Given the description of an element on the screen output the (x, y) to click on. 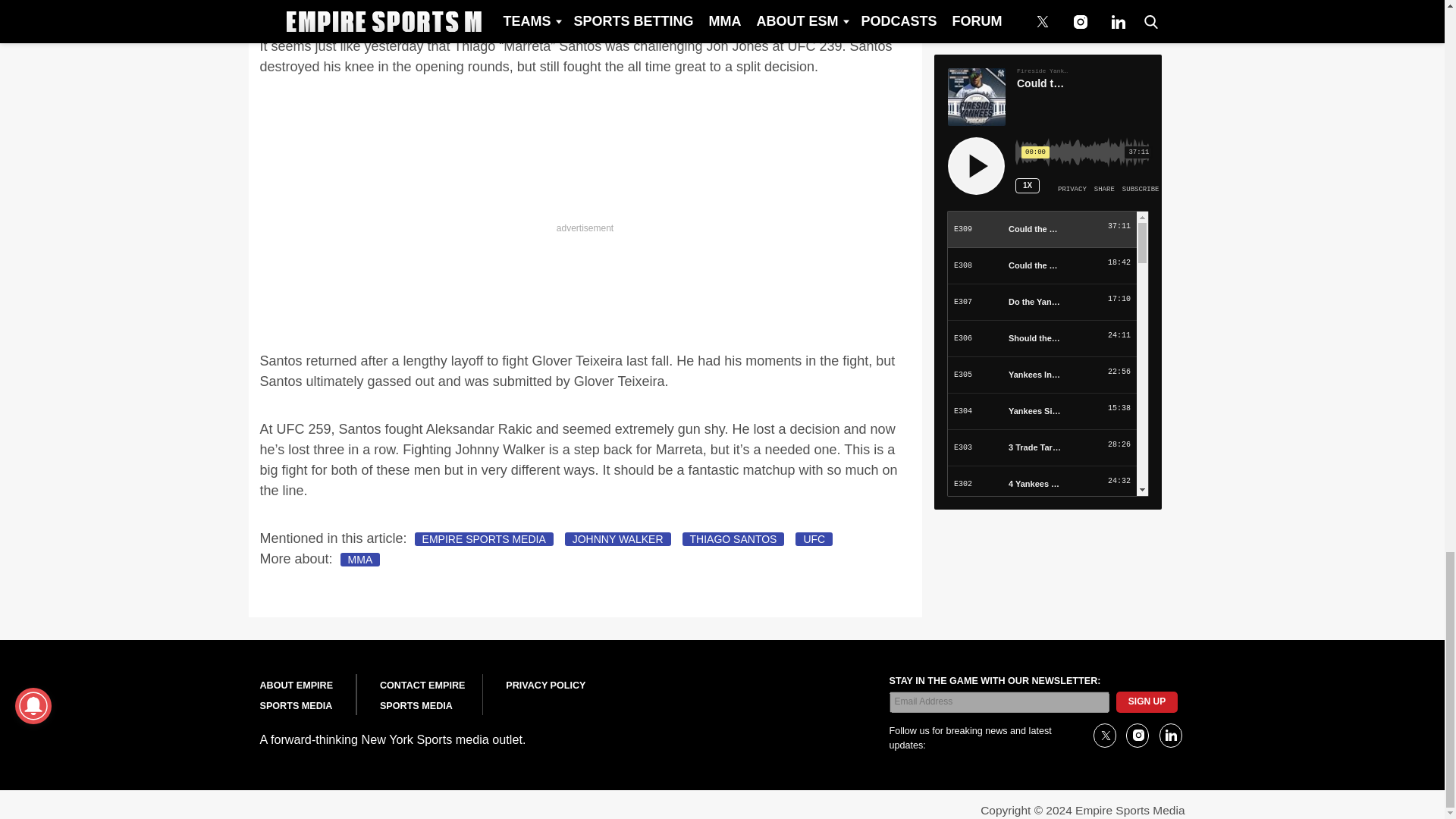
EMPIRE SPORTS MEDIA (483, 539)
